Given the description of an element on the screen output the (x, y) to click on. 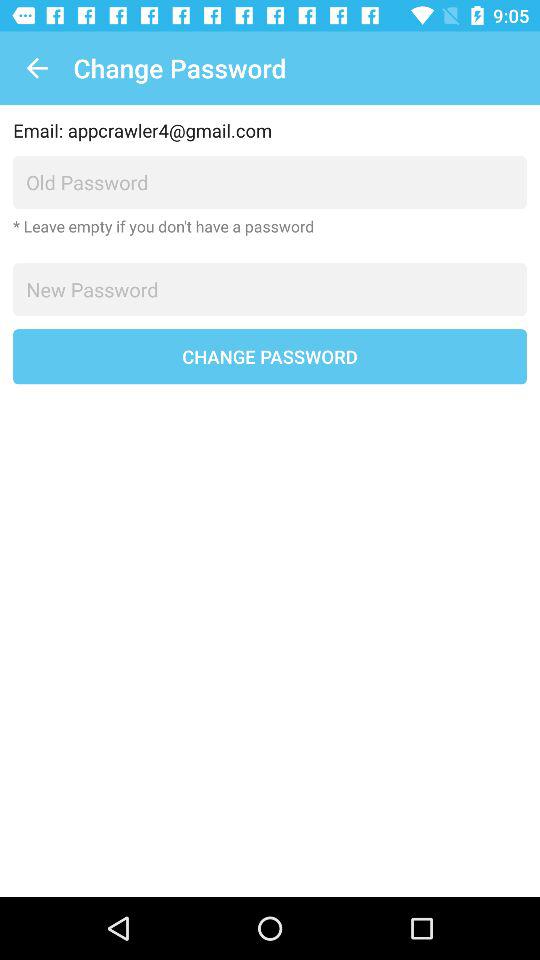
select icon at the top left corner (36, 68)
